Given the description of an element on the screen output the (x, y) to click on. 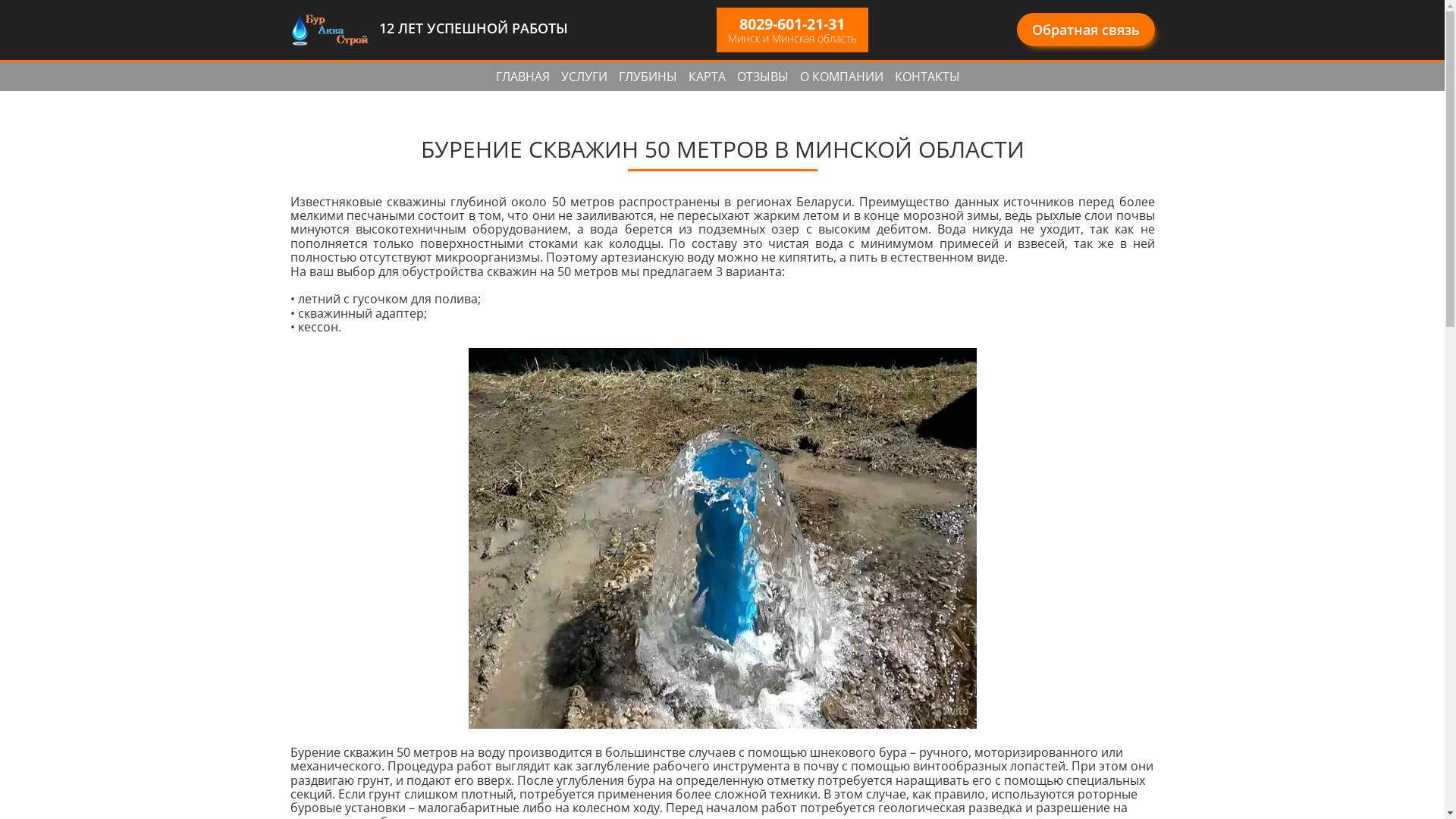
8029-601-21-31 Element type: text (791, 23)
